Given the description of an element on the screen output the (x, y) to click on. 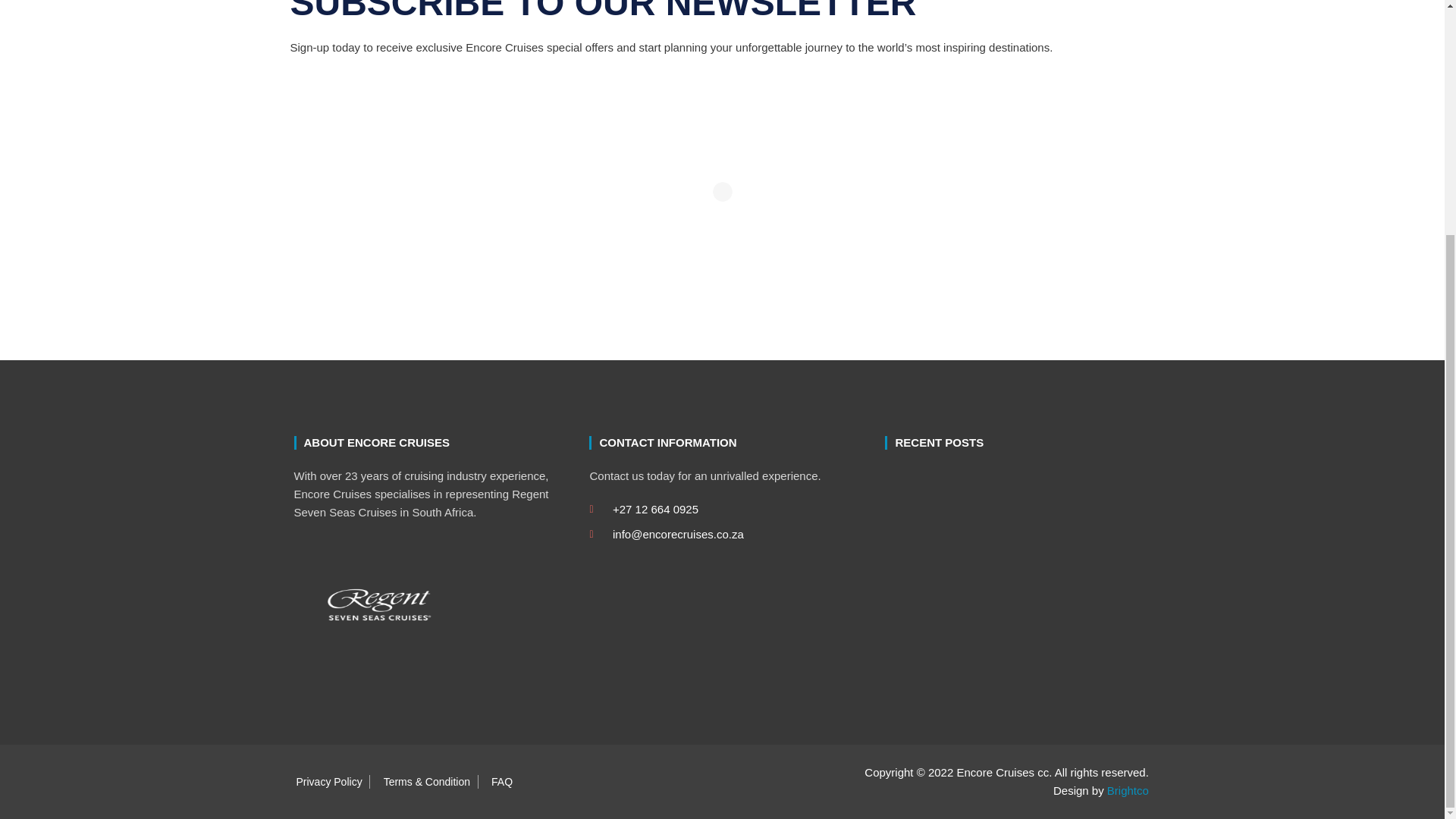
Brightco (1127, 789)
Privacy Policy (325, 781)
FAQ (498, 781)
